Given the description of an element on the screen output the (x, y) to click on. 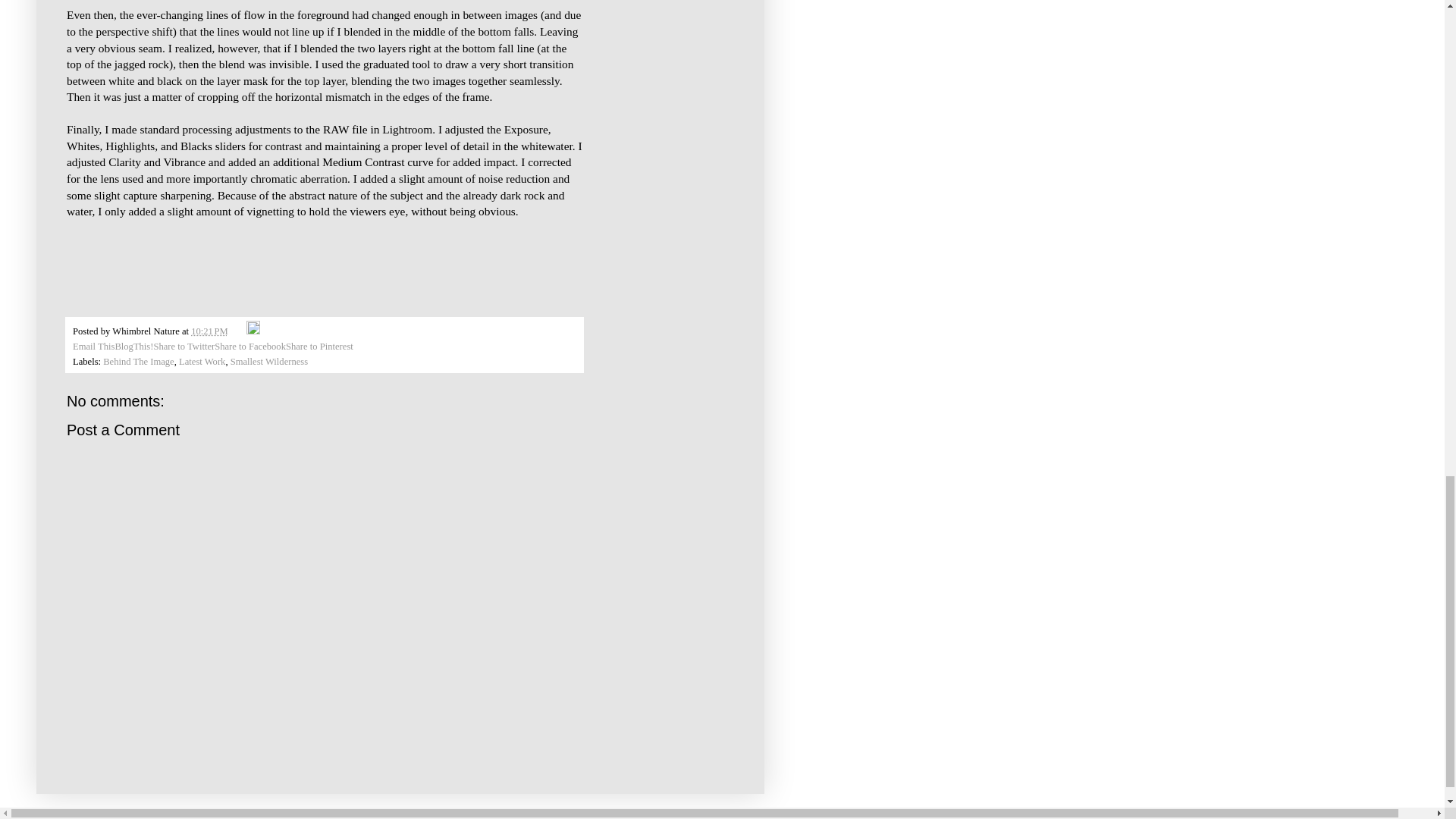
Latest Work (202, 361)
Smallest Wilderness (268, 361)
Share to Pinterest (319, 346)
Share to Twitter (183, 346)
Email This (93, 346)
Share to Twitter (183, 346)
permanent link (208, 330)
Share to Facebook (249, 346)
BlogThis! (133, 346)
Behind The Image (138, 361)
BlogThis! (133, 346)
Edit Post (253, 330)
Share to Pinterest (319, 346)
Share to Facebook (249, 346)
Email Post (238, 330)
